Given the description of an element on the screen output the (x, y) to click on. 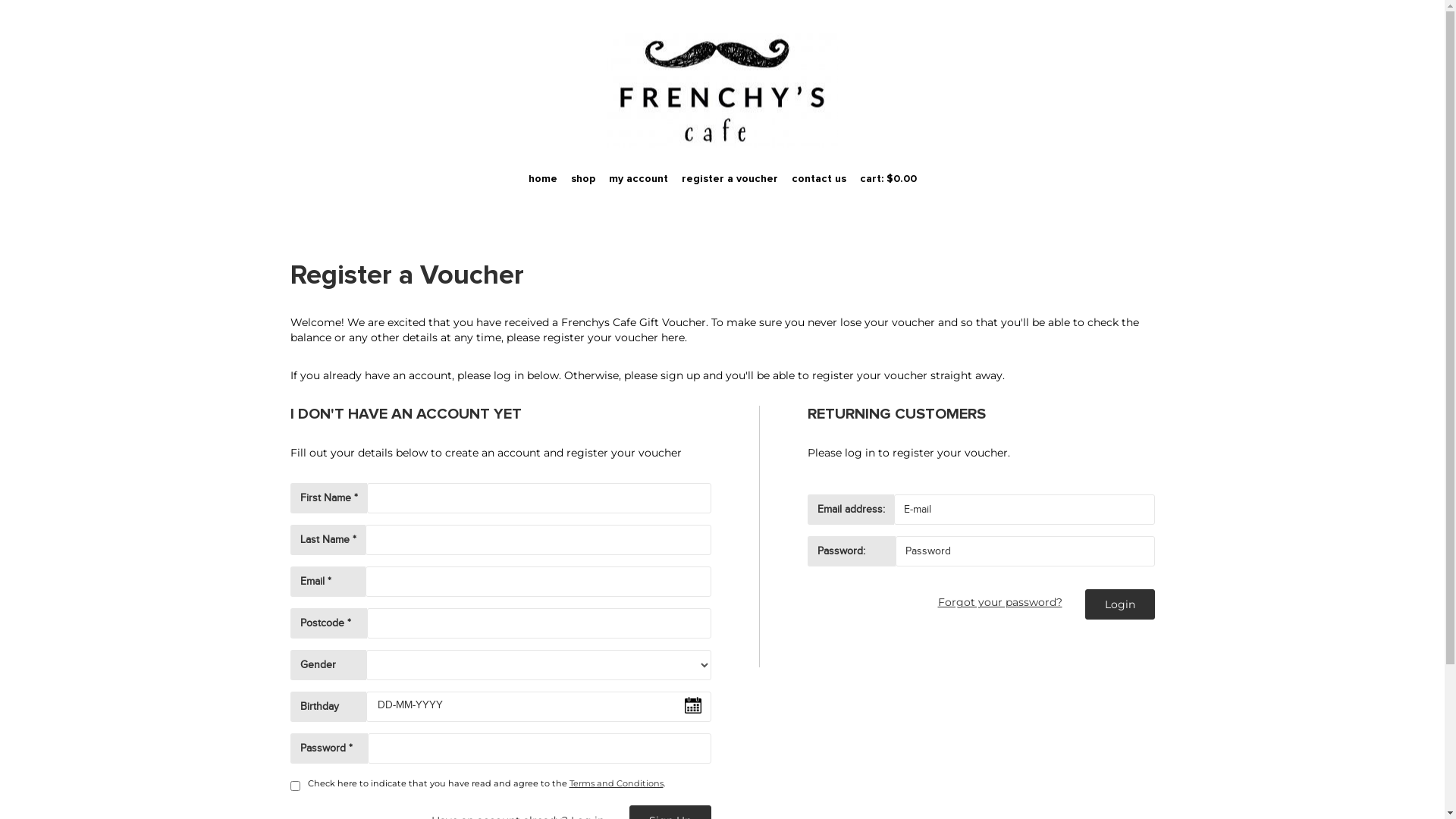
Login Element type: text (1119, 604)
shop Element type: text (583, 178)
register a voucher Element type: text (729, 178)
home Element type: text (542, 178)
Forgot your password? Element type: text (999, 601)
contact us Element type: text (818, 178)
Terms and Conditions Element type: text (615, 783)
cart: $0.00 Element type: text (887, 178)
my account Element type: text (638, 178)
